Given the description of an element on the screen output the (x, y) to click on. 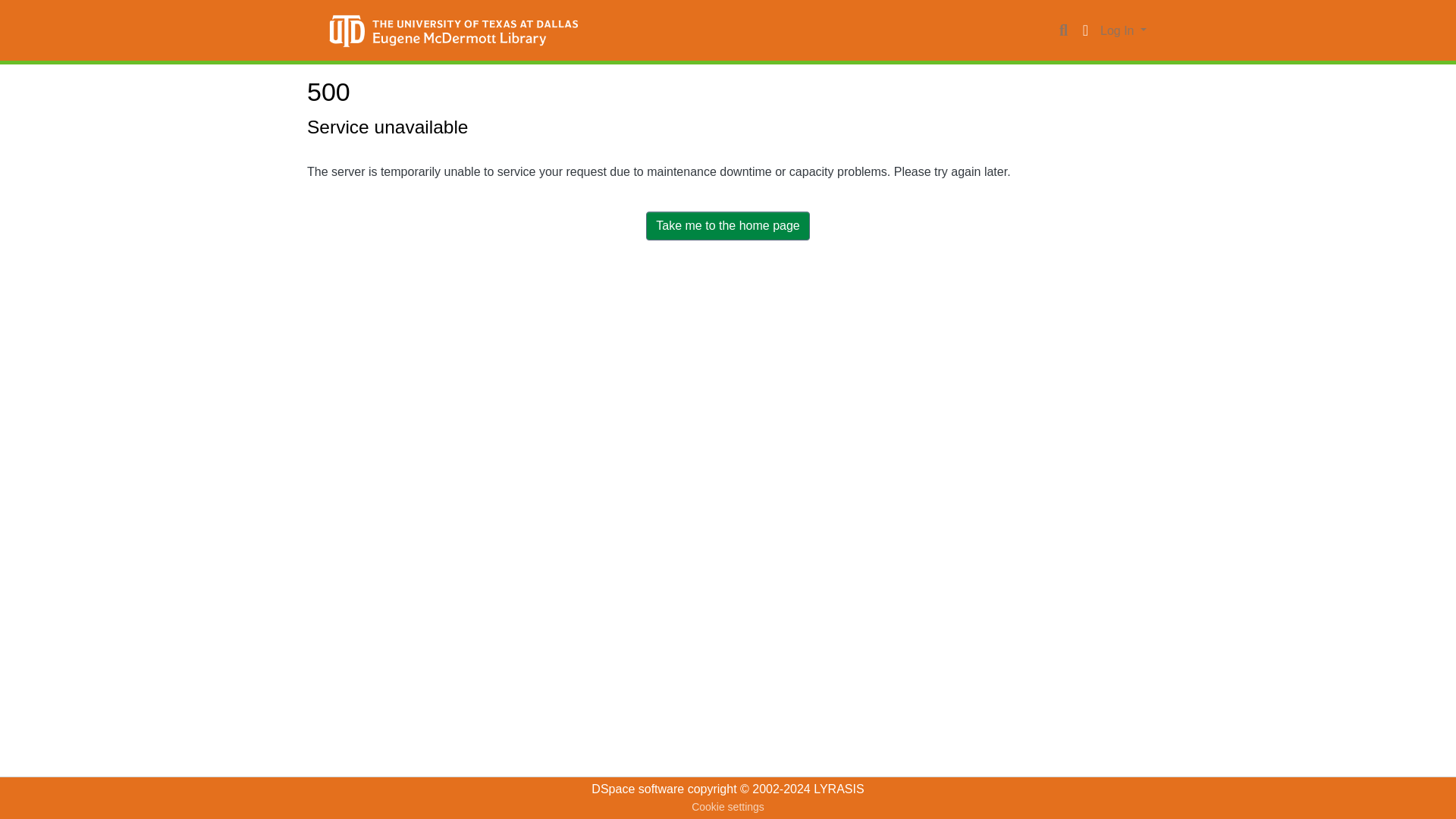
DSpace software (637, 788)
Take me to the home page (727, 225)
Language switch (1084, 30)
Log In (1122, 30)
Cookie settings (727, 806)
Search (1063, 30)
LYRASIS (838, 788)
